Given the description of an element on the screen output the (x, y) to click on. 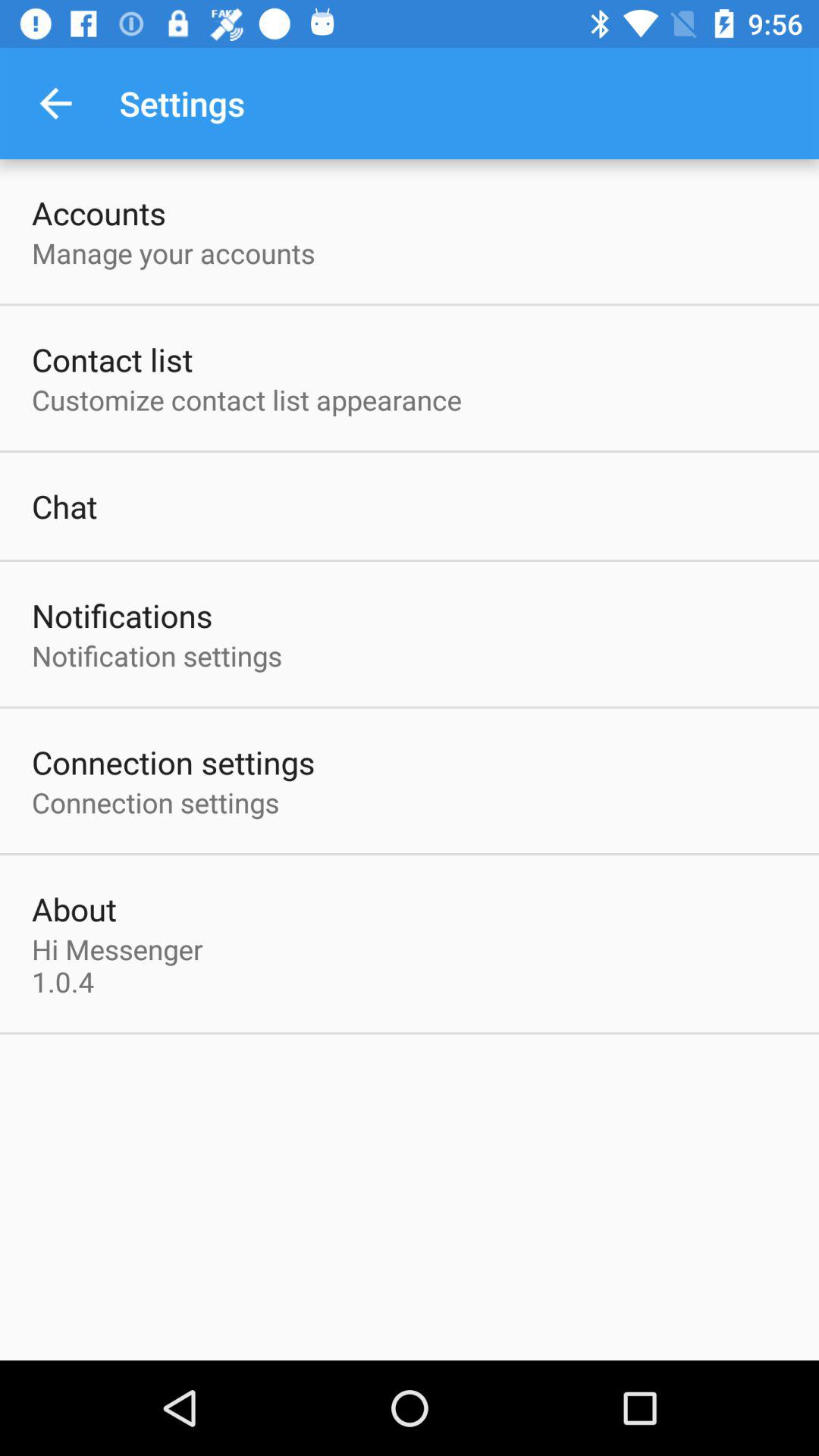
scroll to hi messenger 1 icon (121, 965)
